Given the description of an element on the screen output the (x, y) to click on. 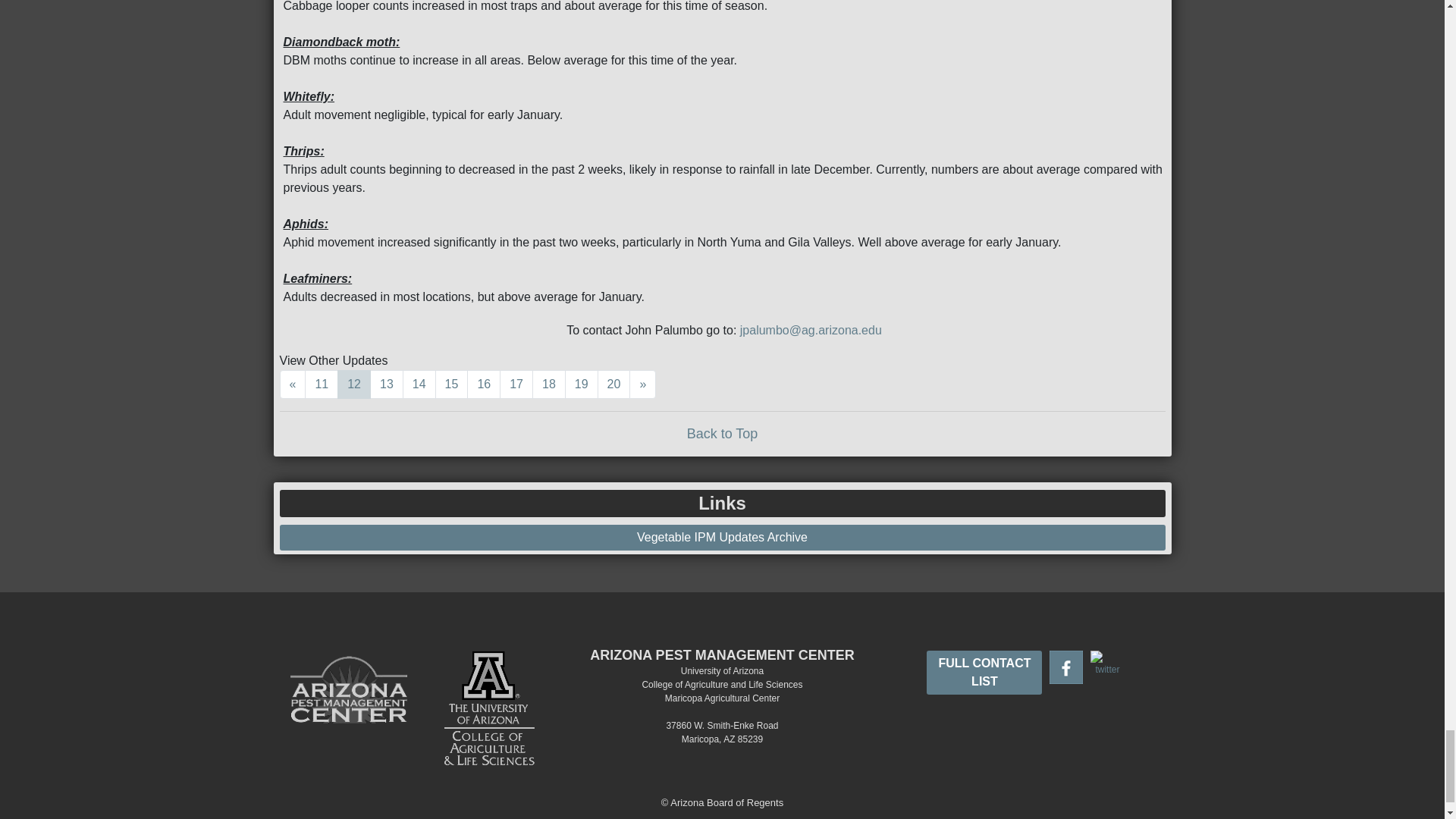
twitter (1107, 663)
facebook (1066, 666)
APMC Logo BW Inverted (348, 705)
